Given the description of an element on the screen output the (x, y) to click on. 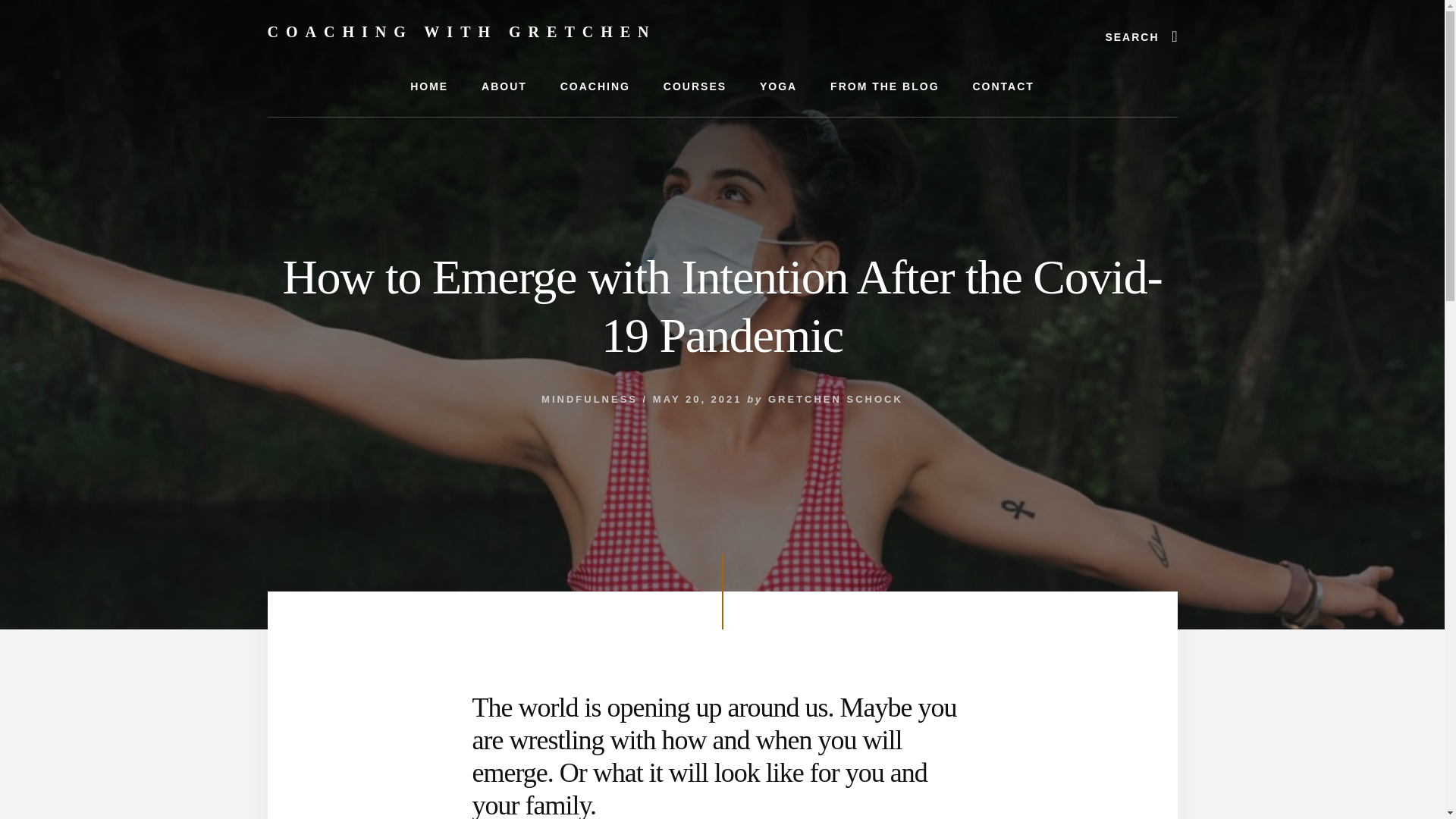
CONTACT (1002, 86)
COACHING (594, 86)
MINDFULNESS (589, 398)
GRETCHEN SCHOCK (835, 398)
COACHING WITH GRETCHEN (461, 31)
FROM THE BLOG (884, 86)
ABOUT (503, 86)
COURSES (694, 86)
YOGA (778, 86)
HOME (428, 86)
